Given the description of an element on the screen output the (x, y) to click on. 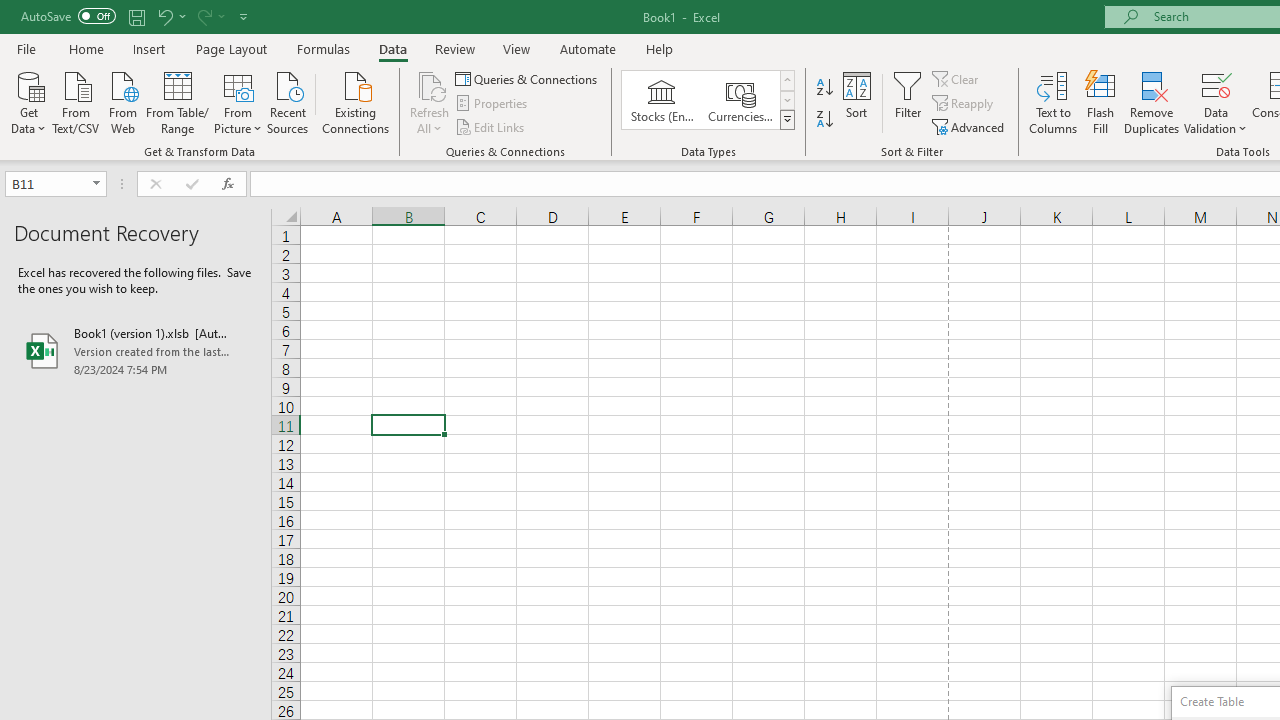
Remove Duplicates (1151, 102)
AutomationID: ConvertToLinkedEntity (708, 99)
Recent Sources (287, 101)
From Text/CSV (75, 101)
Sort... (856, 102)
Get Data (28, 101)
Flash Fill (1101, 102)
